Given the description of an element on the screen output the (x, y) to click on. 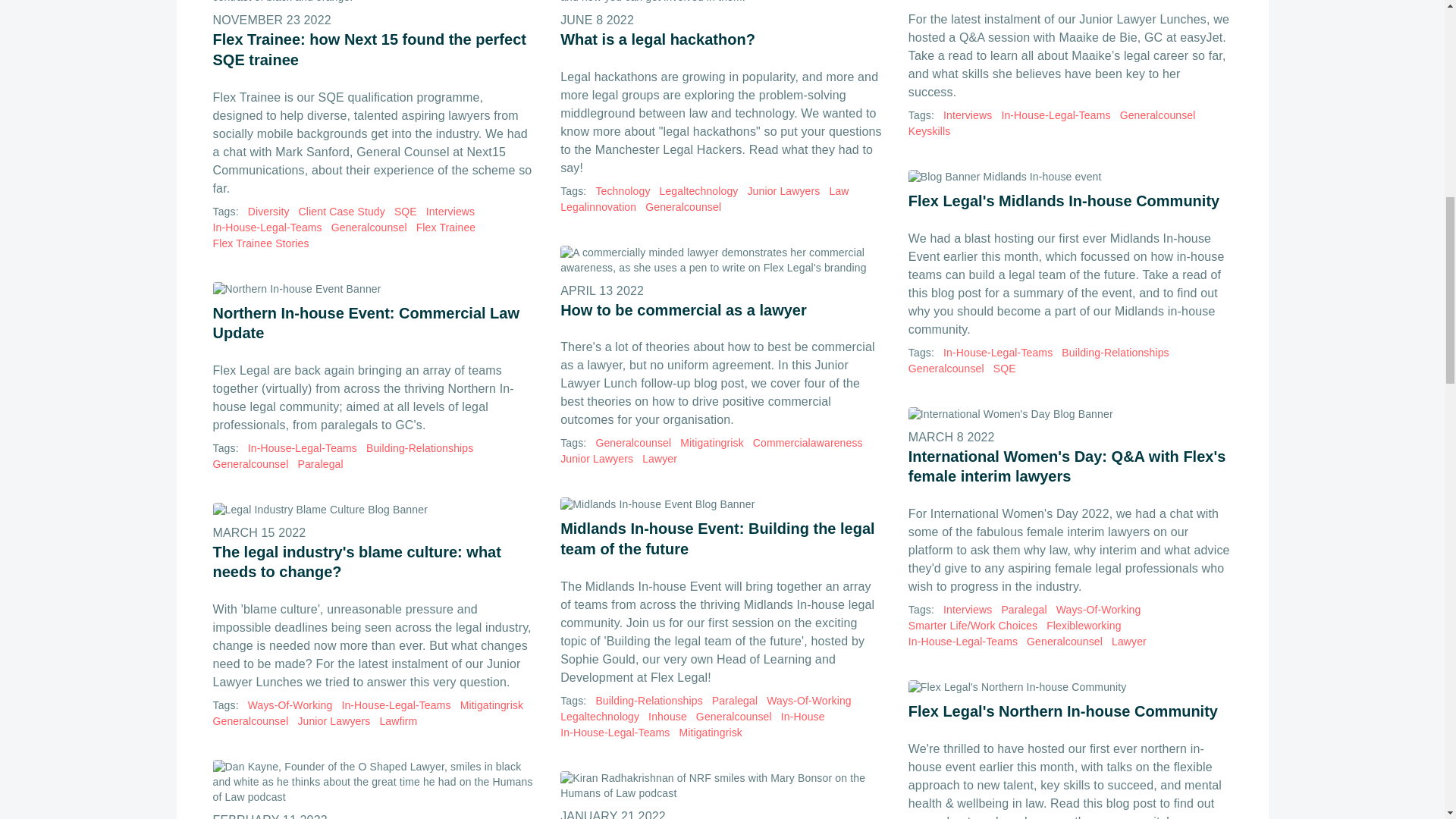
Flex Trainee (446, 227)
Northern In-house Event: Commercial Law Update (373, 312)
Client Case Study (341, 211)
International Women's Day Blog Banner (1069, 414)
Blog Banner Midlands In-house event (1069, 177)
Flex Trainee Stories (260, 243)
Diversity (268, 211)
How to be commercial as a lawyer blog banner (721, 260)
Northern In-house Event Banner (373, 289)
Blog banner legal hackathon NO TEXT (721, 2)
Dan Kayne is a happy lad on the Humans of Law podcast (373, 782)
Humans of Law S2E7 - Kiran Radhakrishnan (721, 786)
Next 15 logo (373, 2)
Midlands In-house Event Blog Banner (721, 504)
